Given the description of an element on the screen output the (x, y) to click on. 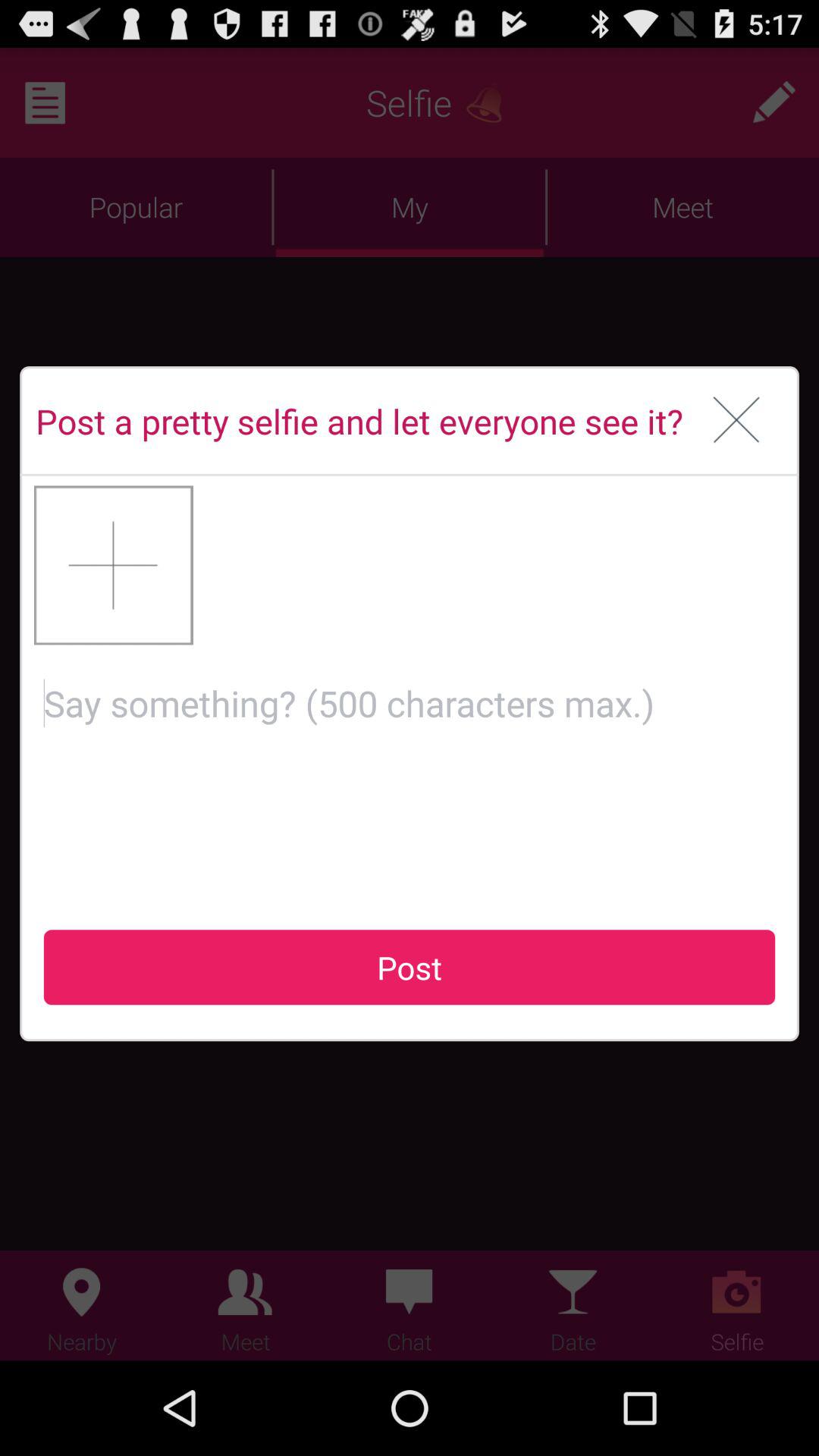
press the icon on the left (113, 564)
